Given the description of an element on the screen output the (x, y) to click on. 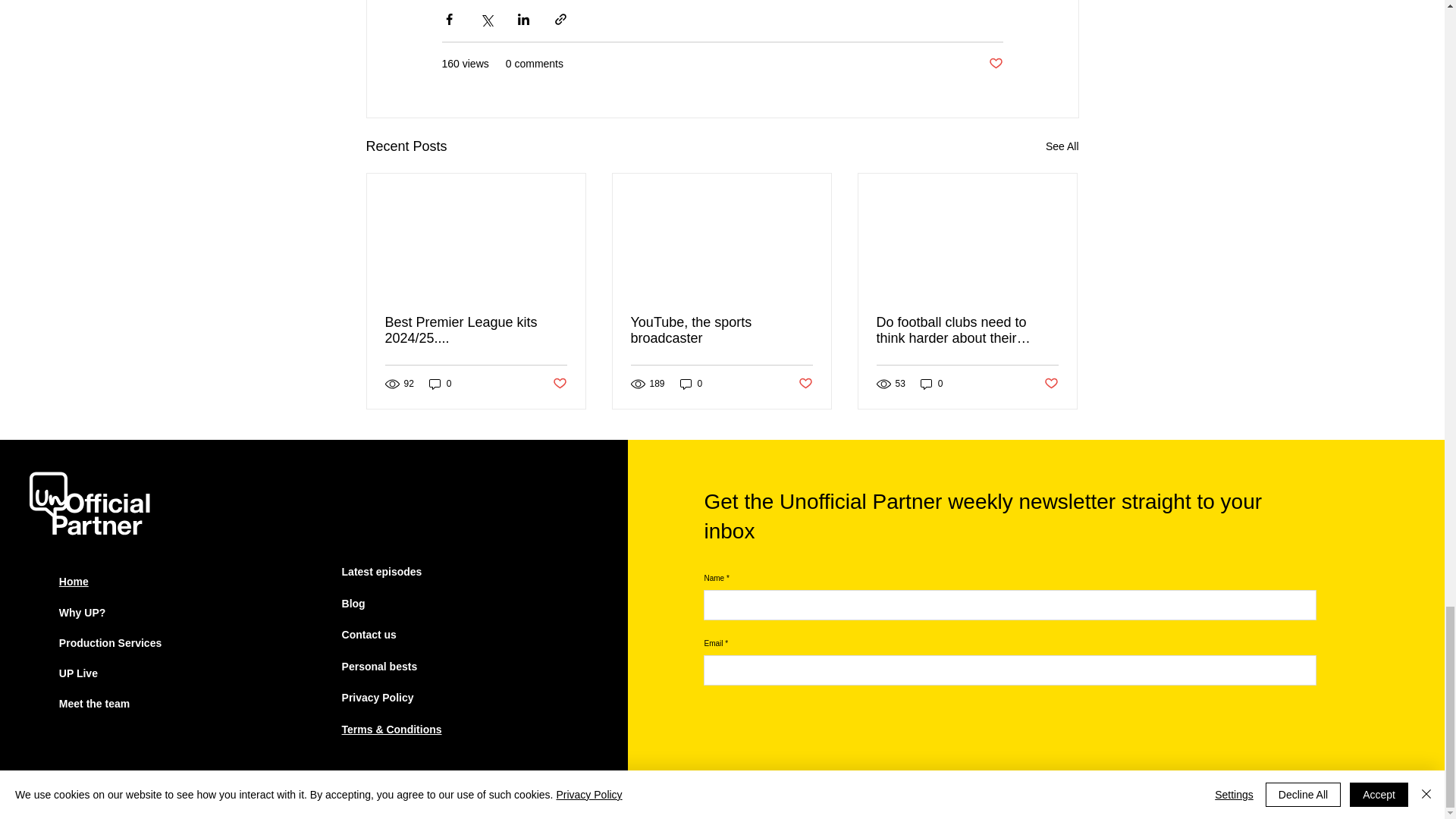
0 (691, 383)
YouTube, the sports broadcaster (721, 330)
0 (931, 383)
Post not marked as liked (804, 383)
See All (1061, 146)
Post not marked as liked (1050, 383)
Post not marked as liked (995, 64)
0 (440, 383)
Do football clubs need to think harder about their brands? (967, 330)
Post not marked as liked (558, 383)
